Given the description of an element on the screen output the (x, y) to click on. 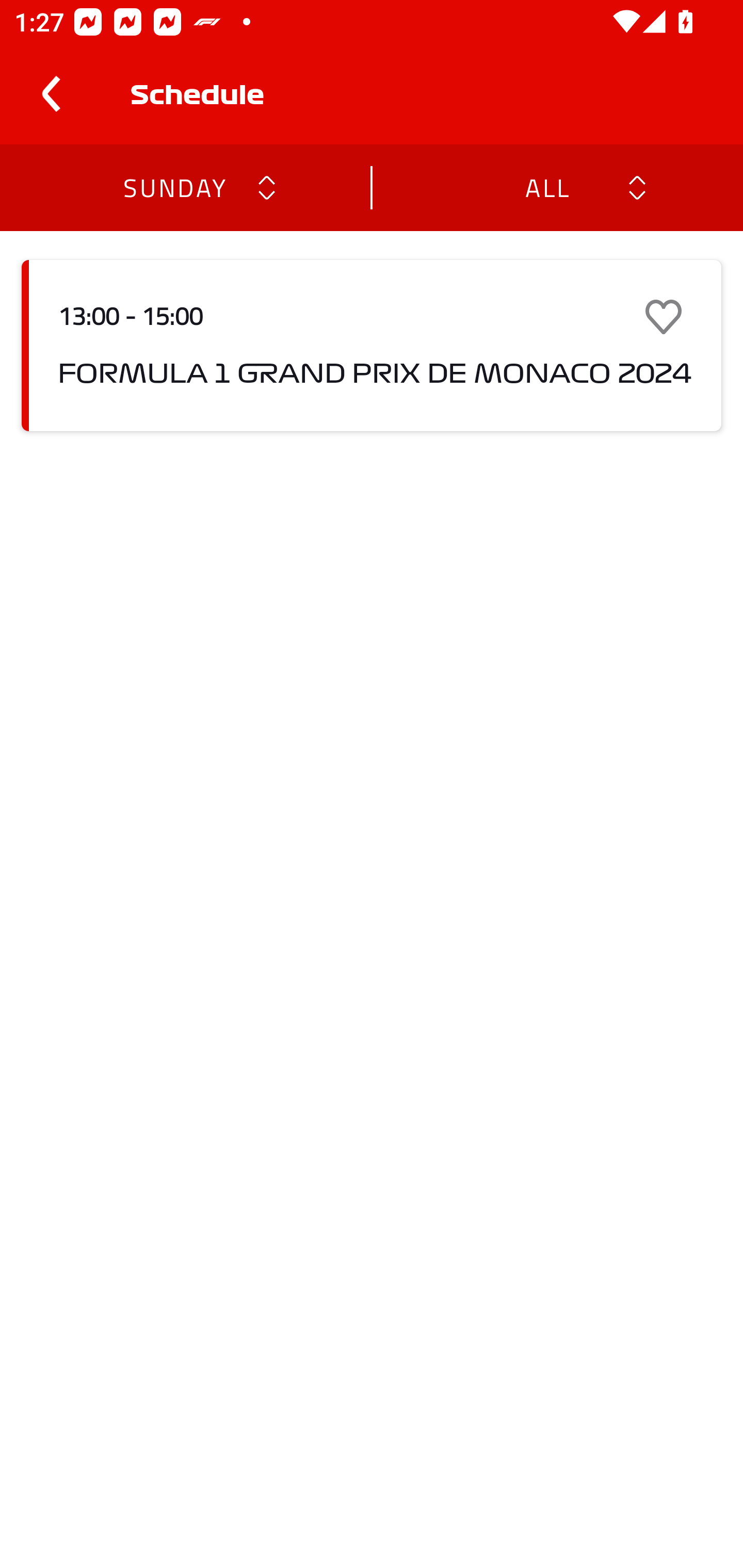
Navigate up (50, 93)
SUNDAY (174, 187)
ALL (546, 187)
13:00 - 15:00 FORMULA 1 GRAND PRIX DE MONACO 2024 (371, 345)
